Given the description of an element on the screen output the (x, y) to click on. 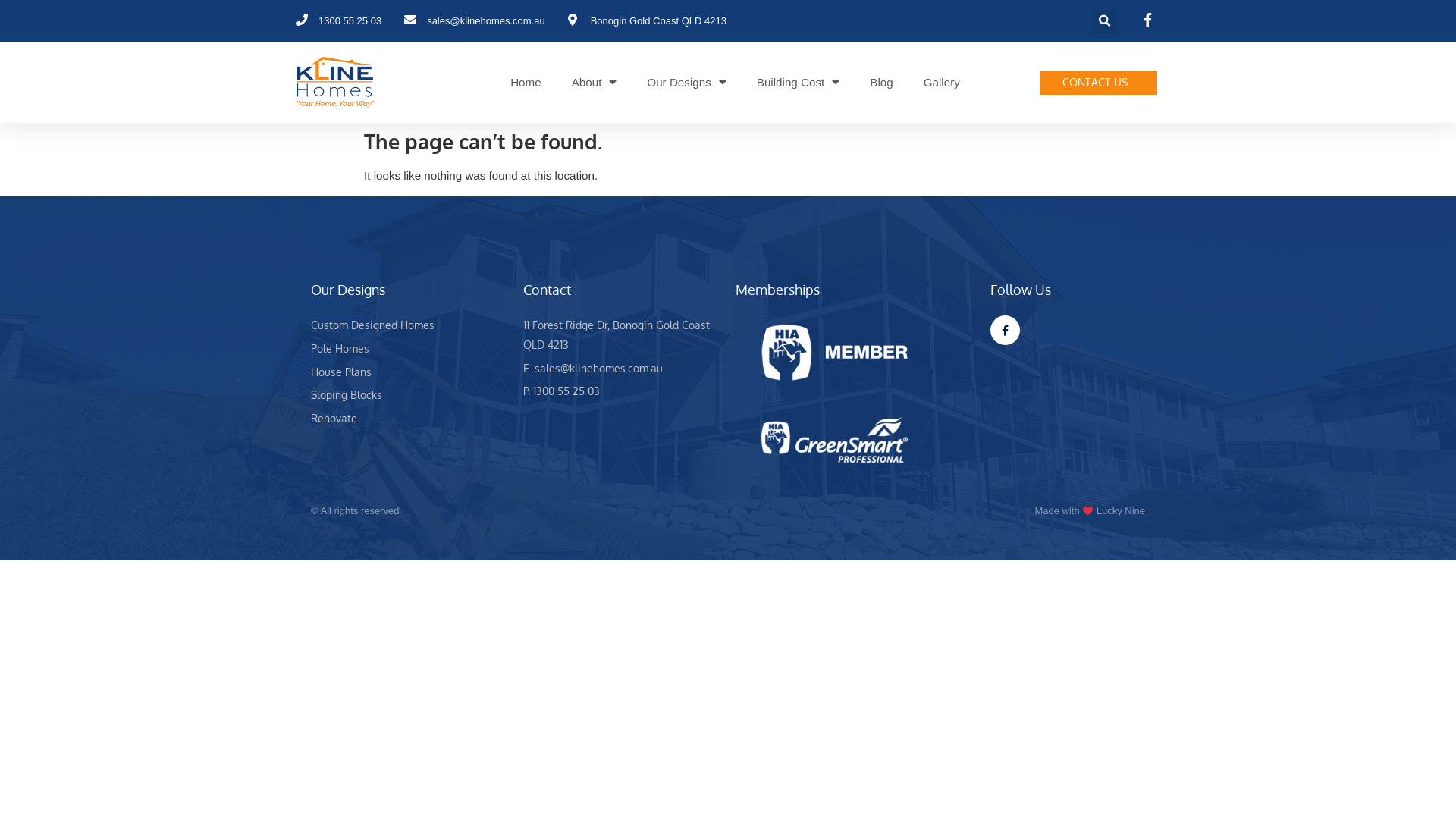
Pole Homes Element type: text (409, 348)
Custom Designed Homes Element type: text (409, 325)
CONTACT US Element type: text (1098, 82)
Renovate Element type: text (409, 418)
sales@klinehomes.com.au Element type: text (474, 21)
House Plans Element type: text (409, 372)
Sloping Blocks Element type: text (409, 394)
About Element type: text (594, 82)
Our Designs Element type: text (685, 82)
Home Element type: text (525, 82)
Building Cost Element type: text (798, 82)
Blog Element type: text (880, 82)
P. 1300 55 25 03 Element type: text (621, 391)
E. sales@klinehomes.com.au Element type: text (621, 368)
1300 55 25 03 Element type: text (338, 21)
Gallery Element type: text (941, 82)
